Given the description of an element on the screen output the (x, y) to click on. 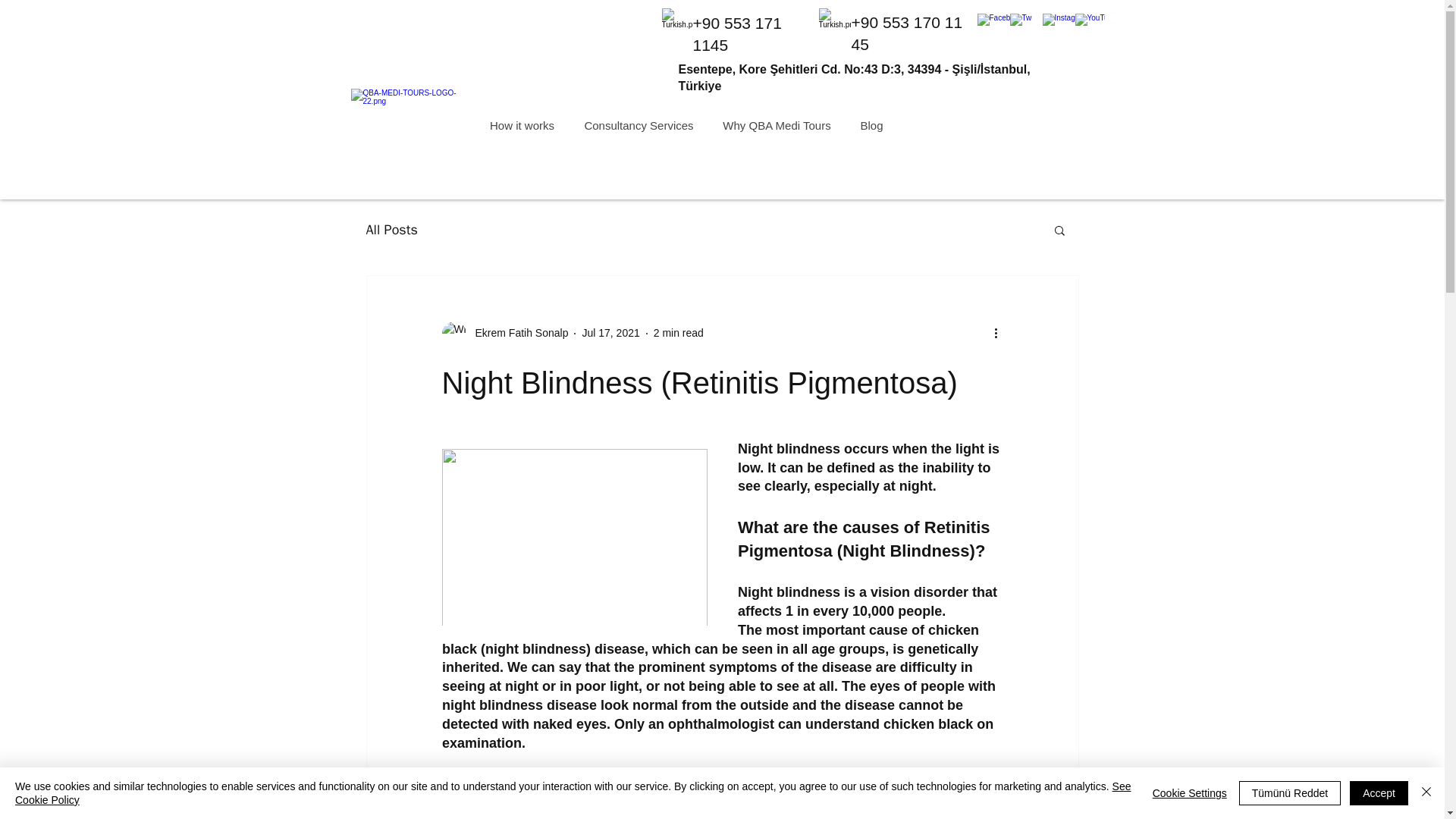
Ekrem Fatih Sonalp (516, 333)
2 min read (678, 332)
Ekrem Fatih Sonalp (504, 333)
Blog (870, 125)
Consultancy Services (638, 125)
Why QBA Medi Tours (776, 125)
How it works (521, 125)
All Posts (390, 229)
Jul 17, 2021 (609, 332)
